Given the description of an element on the screen output the (x, y) to click on. 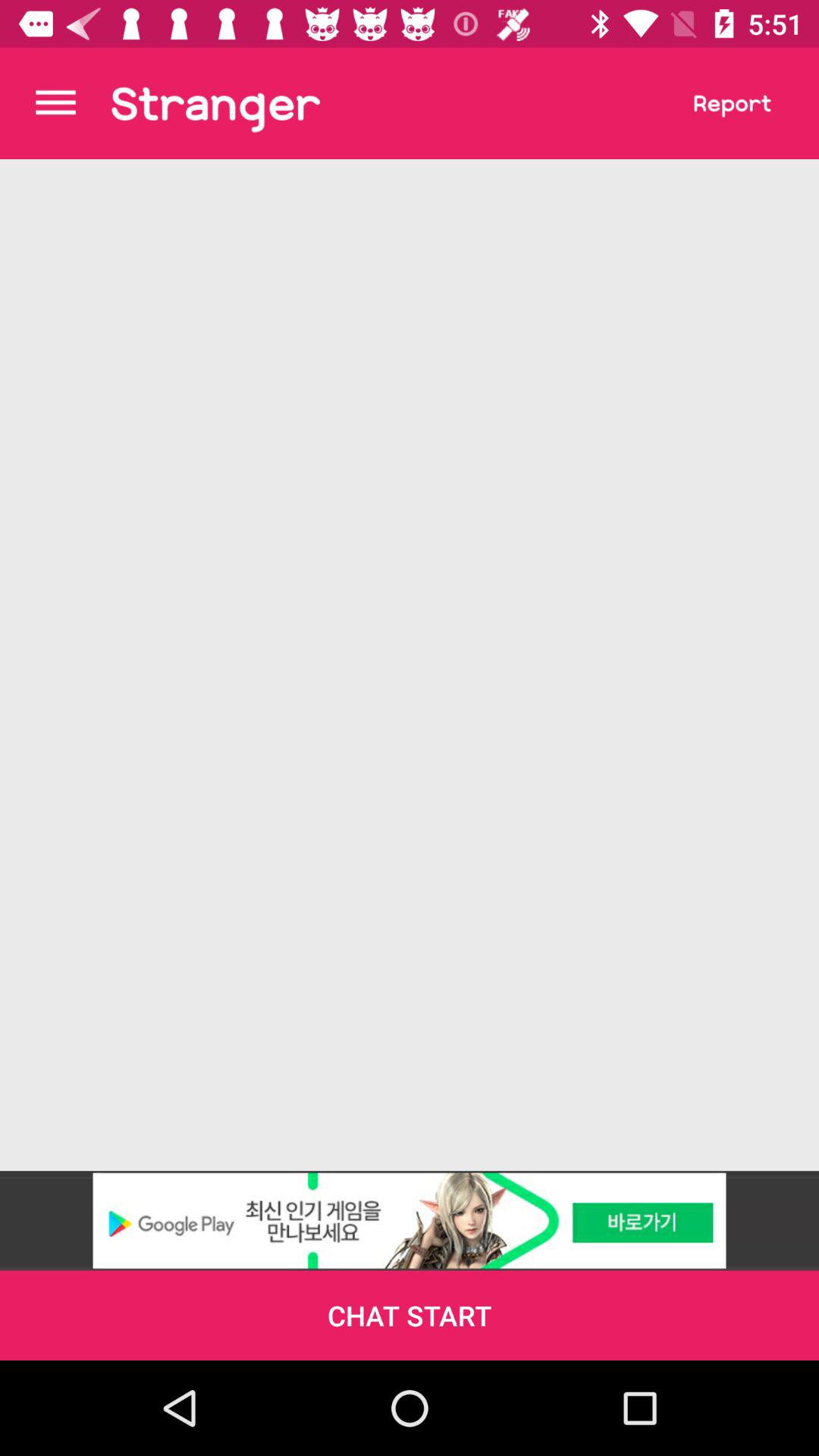
the menu bar (55, 103)
